Given the description of an element on the screen output the (x, y) to click on. 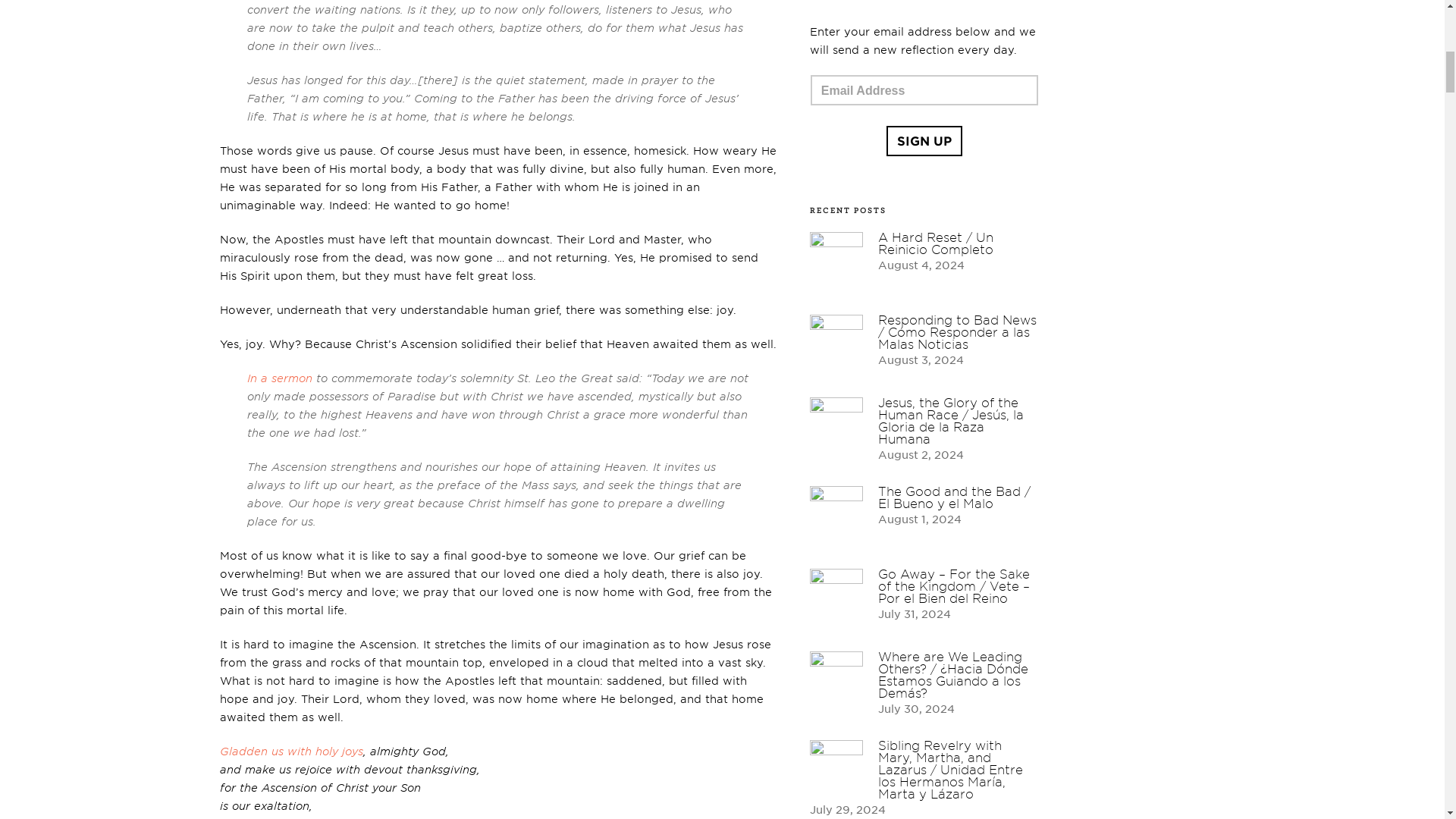
SIGN UP (924, 141)
